Given the description of an element on the screen output the (x, y) to click on. 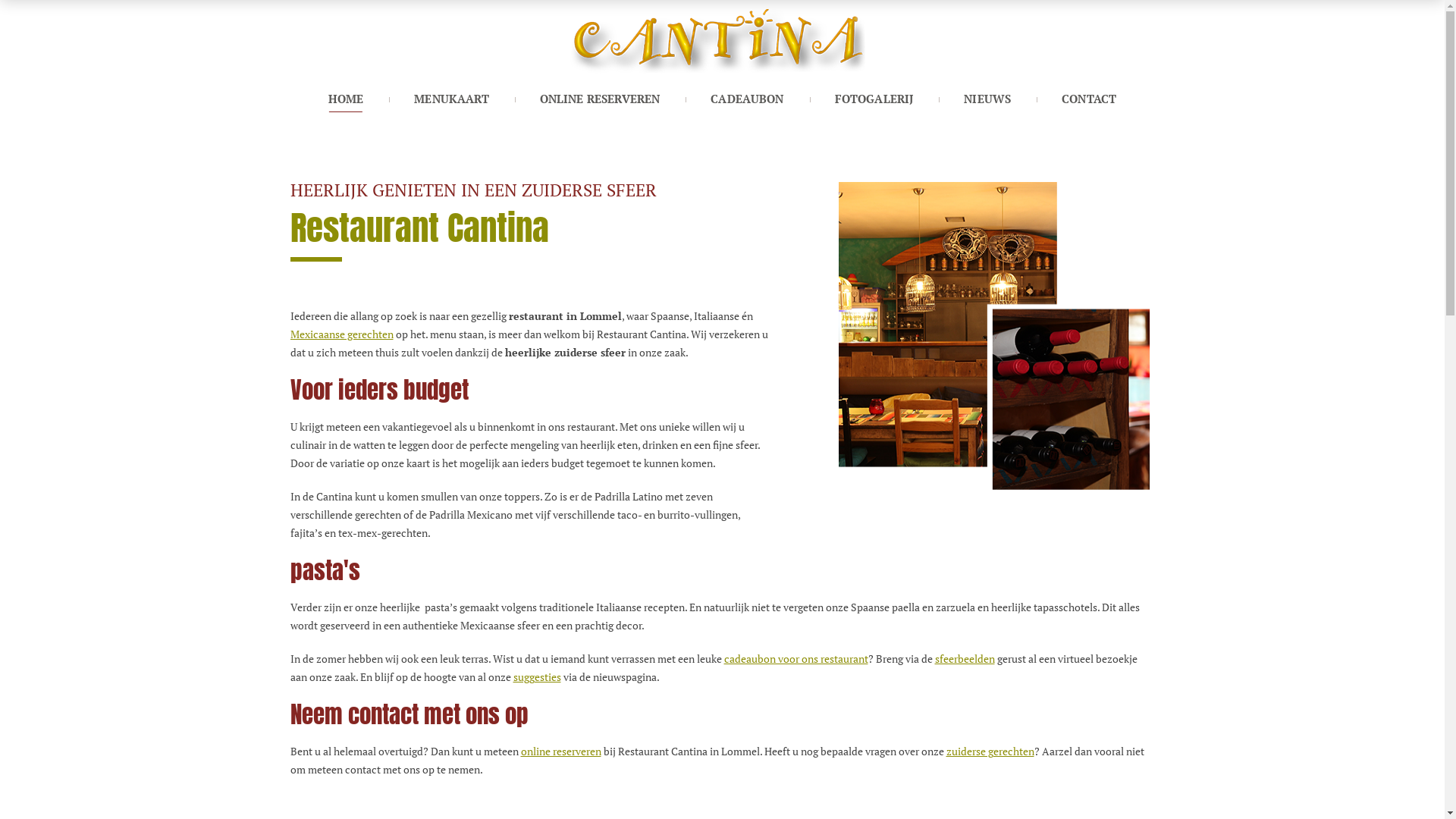
HOME Element type: text (346, 96)
cadeaubon voor ons restaurant Element type: text (795, 658)
CONTACT Element type: text (1088, 96)
sfeerbeelden Element type: text (964, 658)
online reserveren Element type: text (560, 750)
CADEAUBON Element type: text (746, 96)
ONLINE RESERVEREN Element type: text (599, 96)
Mexicaanse gerechten Element type: text (340, 333)
zuiderse gerechten Element type: text (990, 750)
FOTOGALERIJ Element type: text (874, 96)
MENUKAART Element type: text (450, 96)
Cantina - Restaurant Element type: hover (721, 38)
suggesties Element type: text (536, 676)
NIEUWS Element type: text (987, 96)
